Given the description of an element on the screen output the (x, y) to click on. 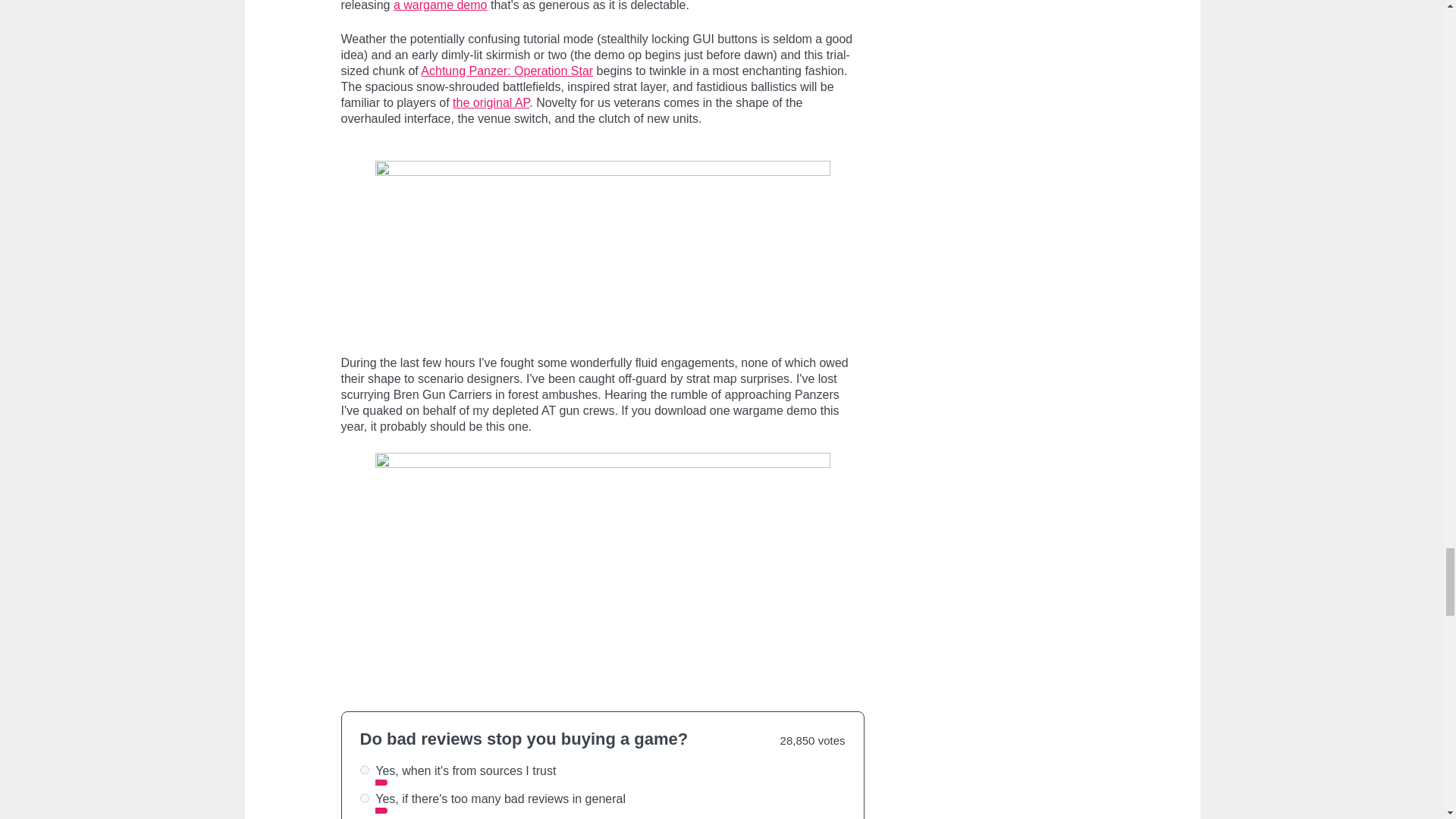
on (364, 798)
on (364, 769)
